Given the description of an element on the screen output the (x, y) to click on. 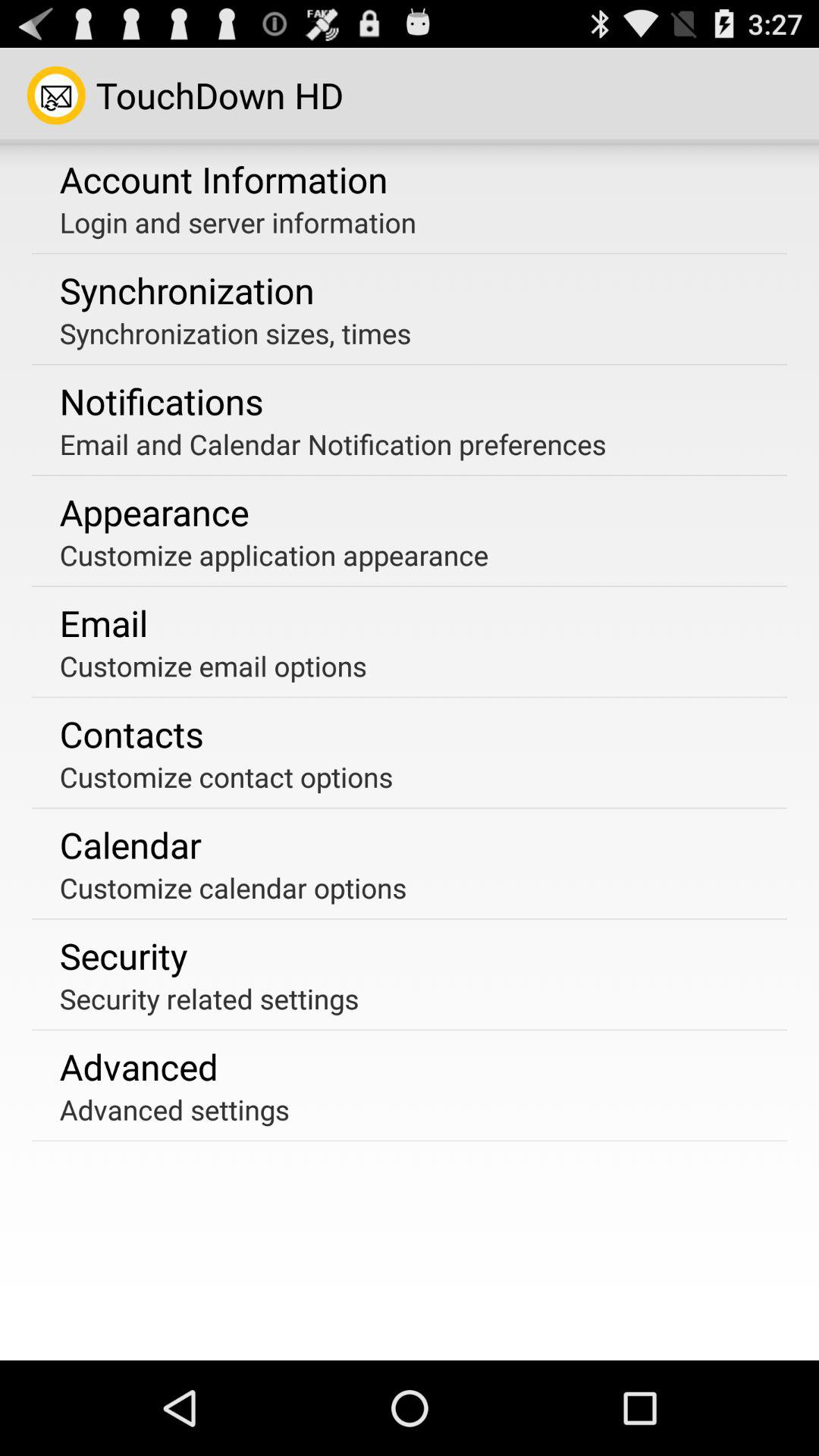
swipe to the customize application appearance item (273, 554)
